Given the description of an element on the screen output the (x, y) to click on. 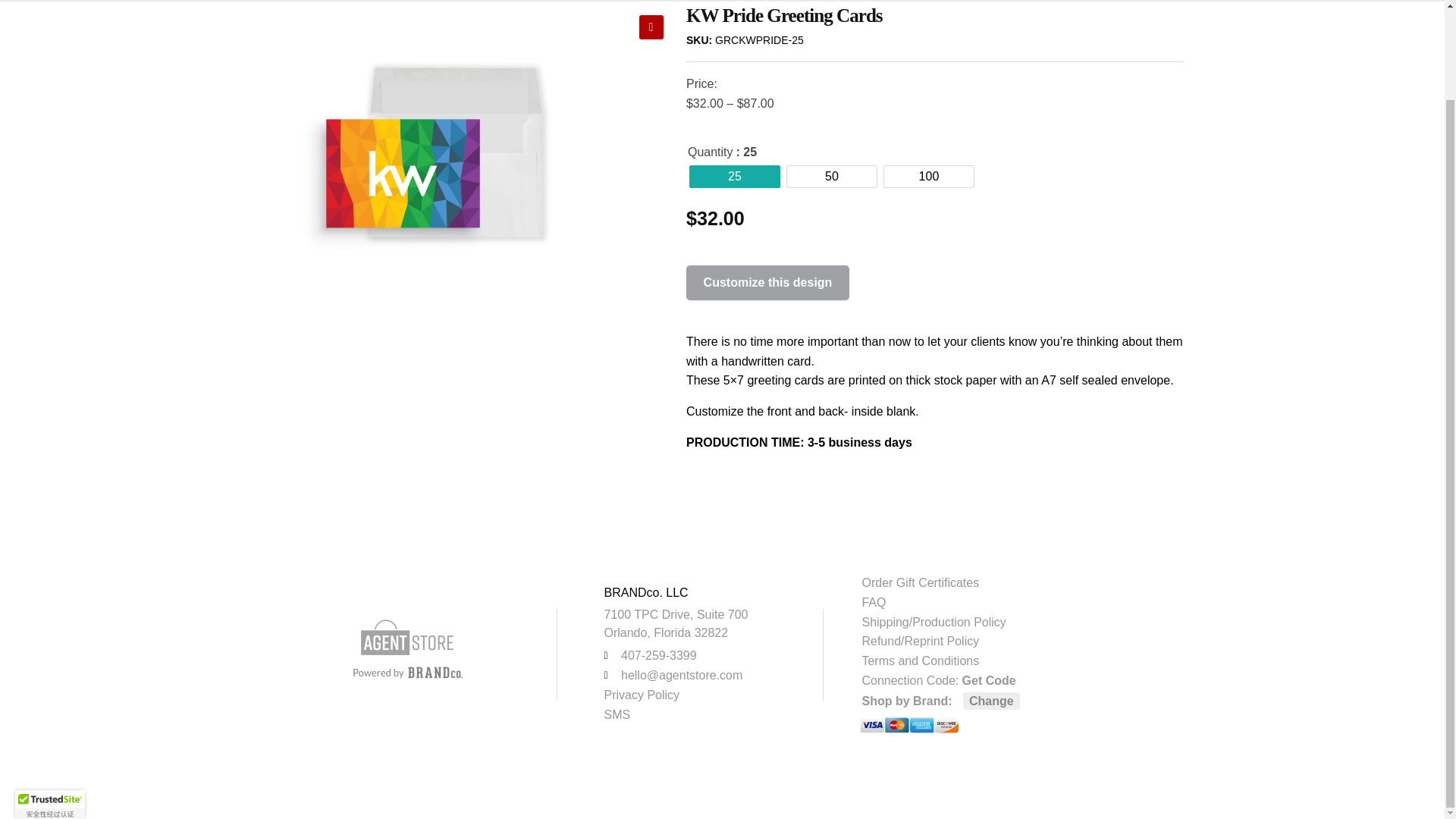
TrustedSite Certified (49, 701)
Terms and Conditions (999, 660)
50 (831, 176)
FAQ (999, 602)
Order Gift Certificates (999, 582)
100 (928, 176)
Customize this design (766, 282)
Privacy Policy (694, 695)
Get Code (989, 680)
Change (991, 701)
